Given the description of an element on the screen output the (x, y) to click on. 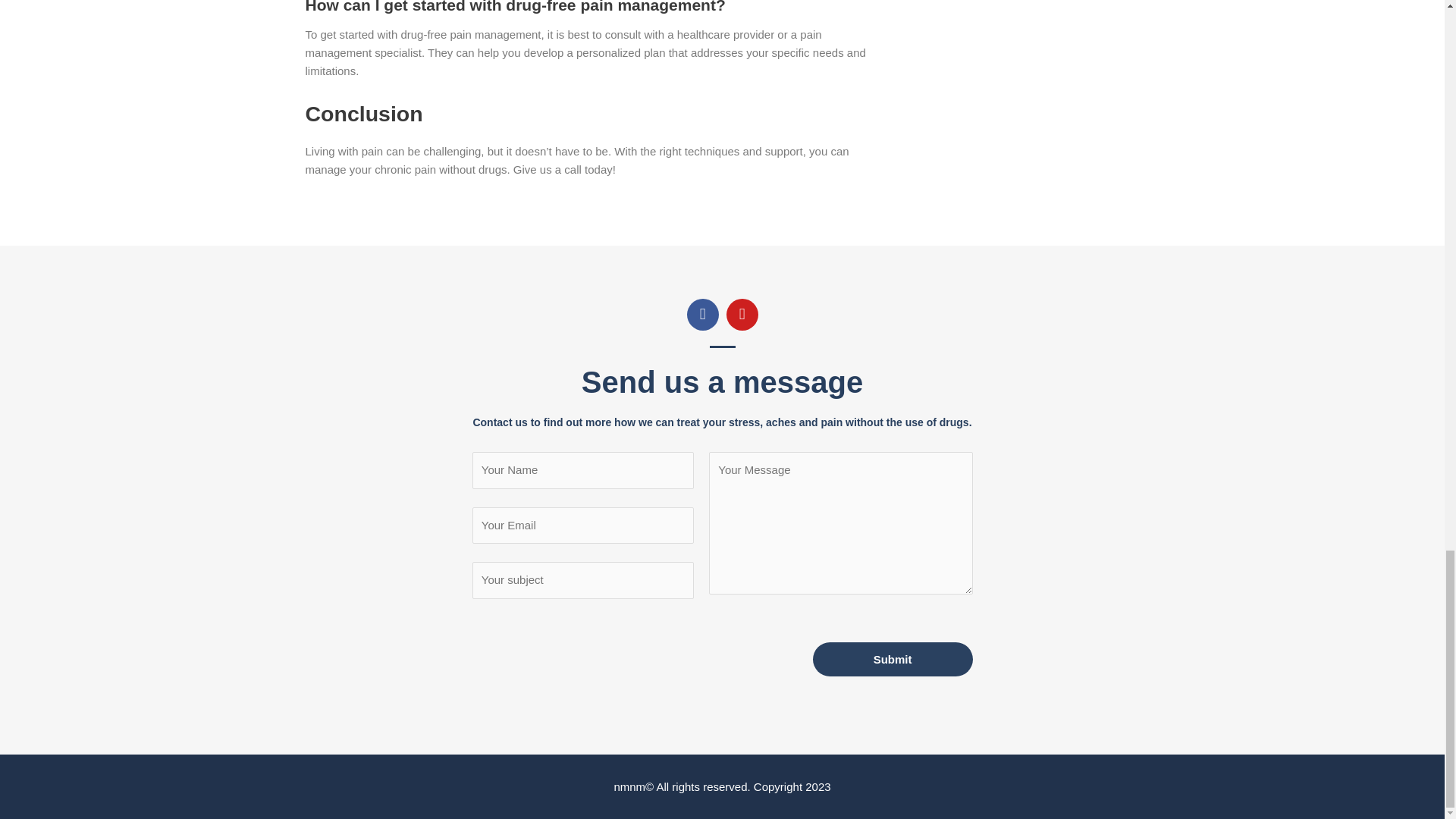
Submit (892, 659)
